Given the description of an element on the screen output the (x, y) to click on. 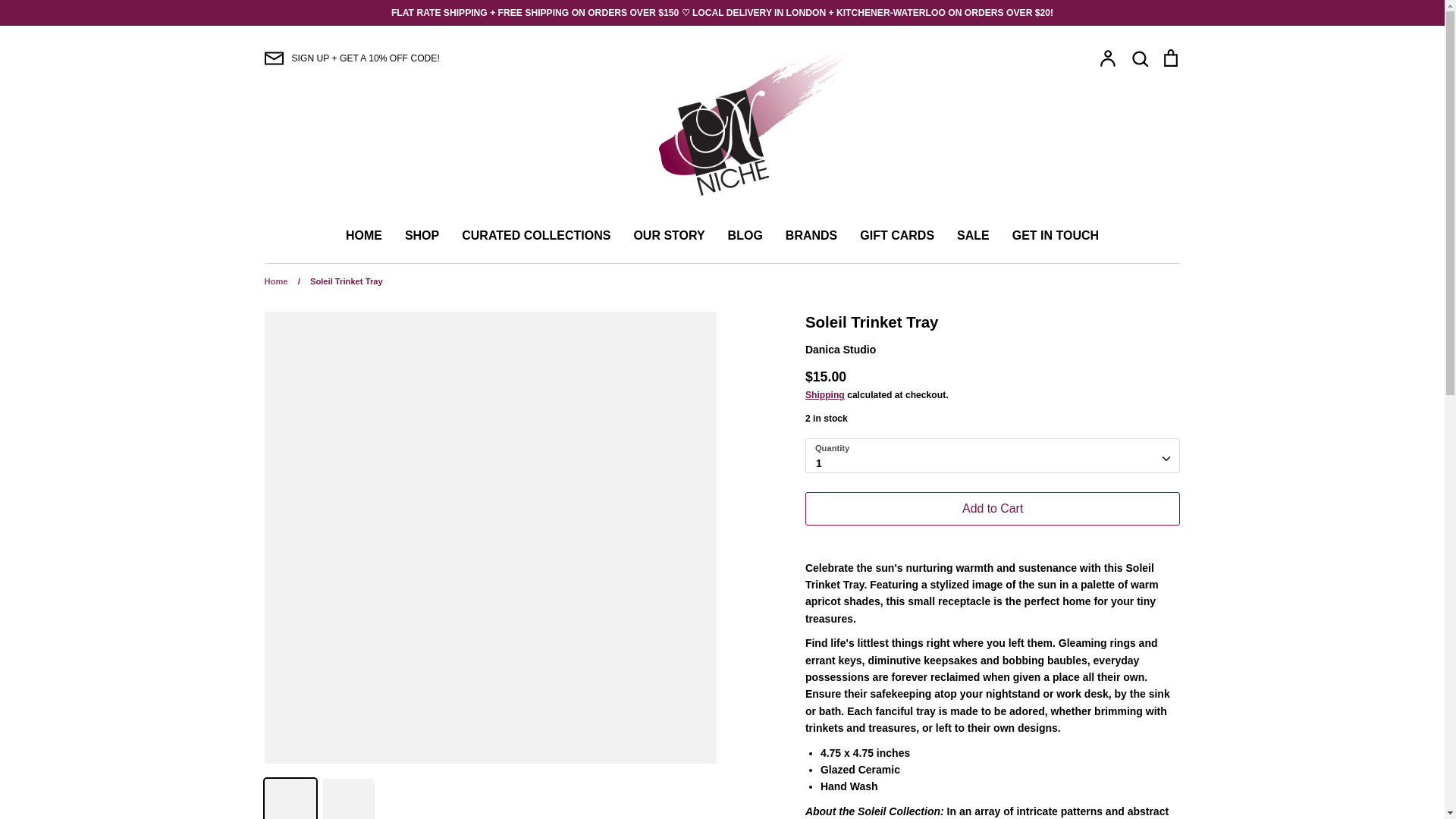
SHOP (421, 235)
HOME (363, 235)
Account (1107, 57)
Cart (1169, 57)
1 (992, 455)
Search (1139, 57)
